Given the description of an element on the screen output the (x, y) to click on. 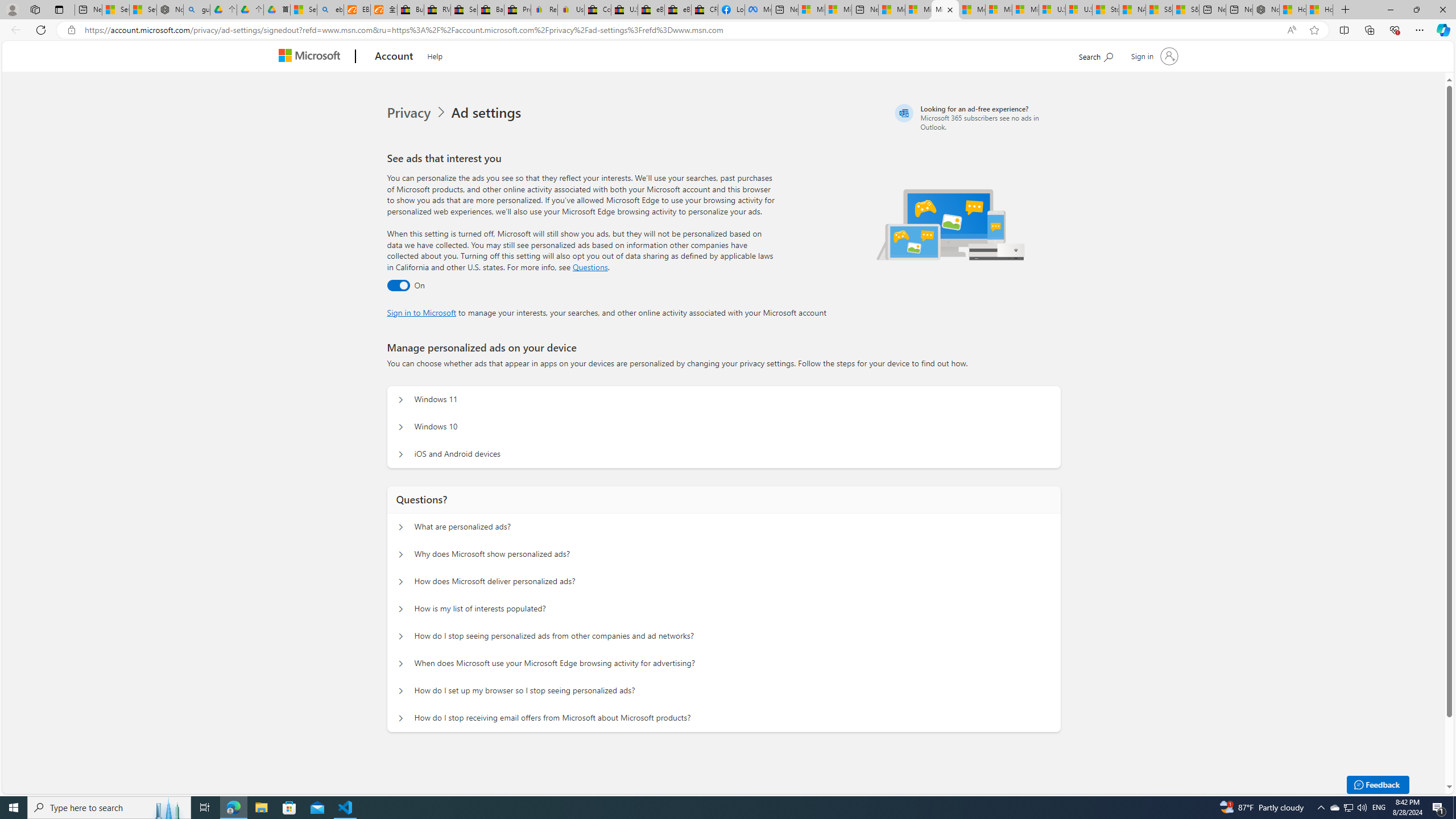
User Privacy Notice | eBay (571, 9)
Illustration of multiple devices (951, 224)
Help (434, 54)
Manage personalized ads on your device Windows 10 (401, 427)
Consumer Health Data Privacy Policy - eBay Inc. (597, 9)
Questions? How is my list of interests populated? (401, 608)
Questions? Why does Microsoft show personalized ads? (401, 554)
Help (435, 54)
